Given the description of an element on the screen output the (x, y) to click on. 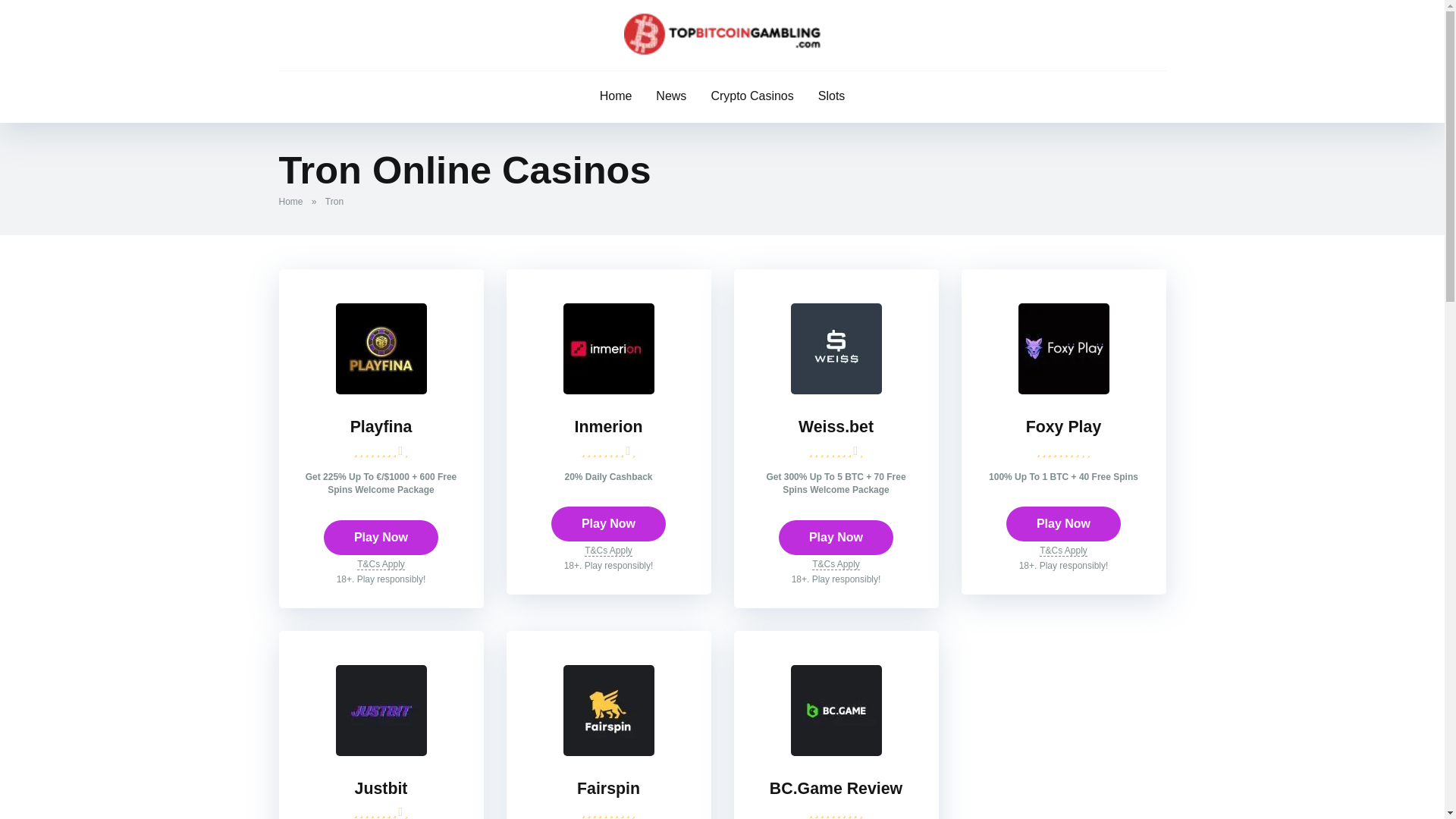
Play Now (1063, 523)
Foxy Play (1062, 390)
Inmerion (607, 390)
Justbit (381, 788)
Justbit (380, 751)
Play Now (835, 537)
Home (293, 201)
Foxy Play (1064, 426)
Slots (831, 96)
Fairspin (608, 788)
Weiss.bet (835, 426)
Playfina (380, 390)
Playfina (380, 537)
Play Now (608, 523)
Playfina (381, 426)
